Given the description of an element on the screen output the (x, y) to click on. 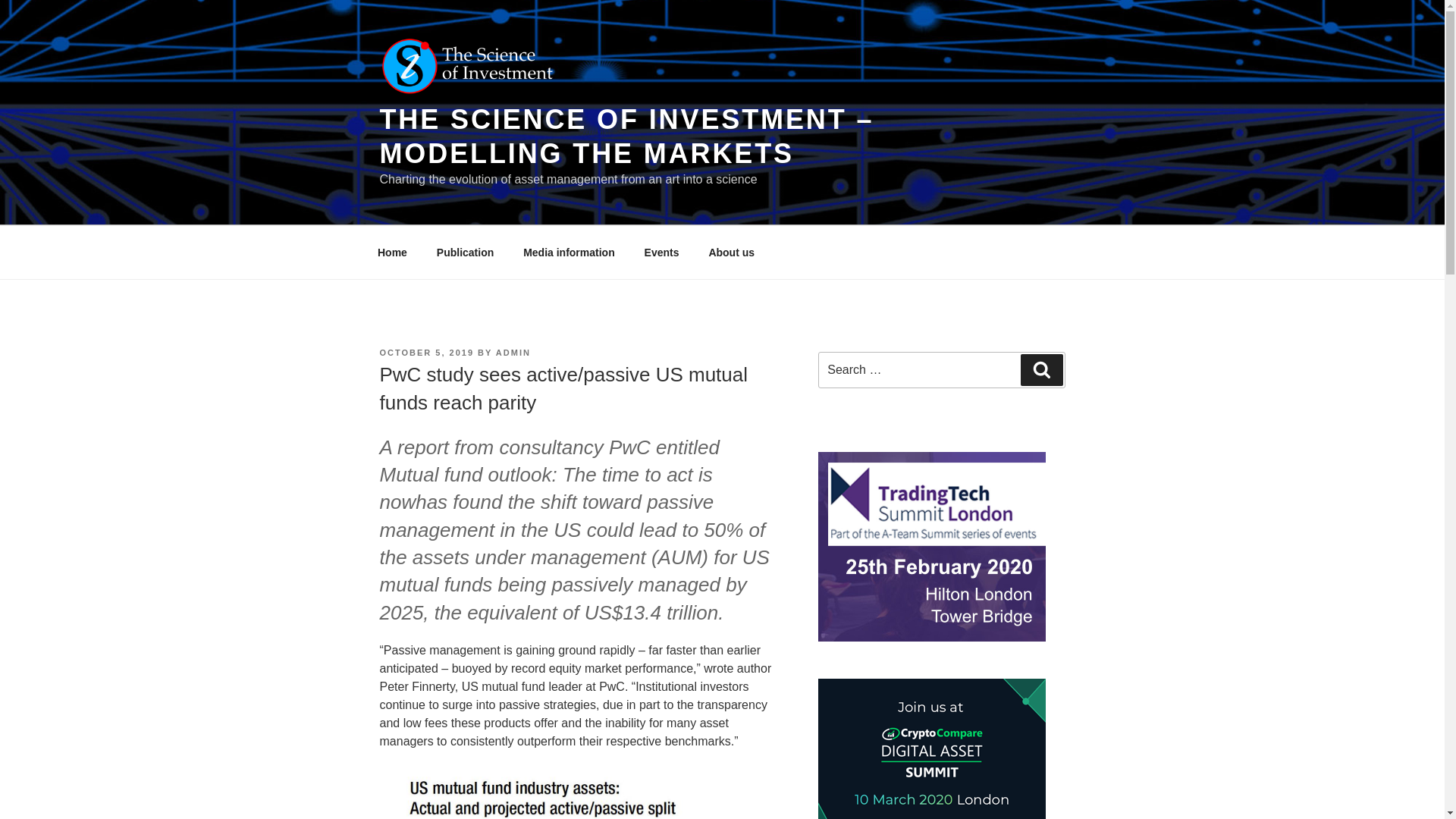
Publication (464, 252)
Media information (569, 252)
Search (1041, 369)
ADMIN (513, 352)
Events (661, 252)
OCTOBER 5, 2019 (426, 352)
About us (731, 252)
Home (392, 252)
